Given the description of an element on the screen output the (x, y) to click on. 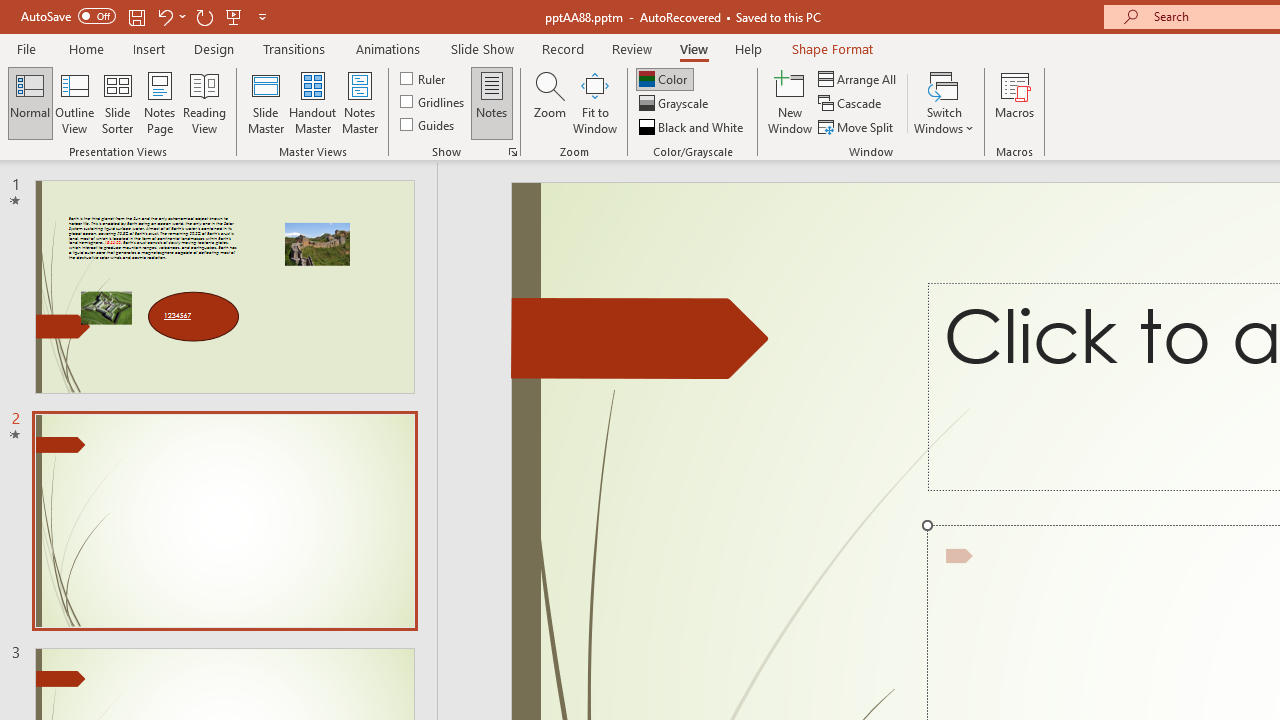
Switch Windows (943, 102)
